Given the description of an element on the screen output the (x, y) to click on. 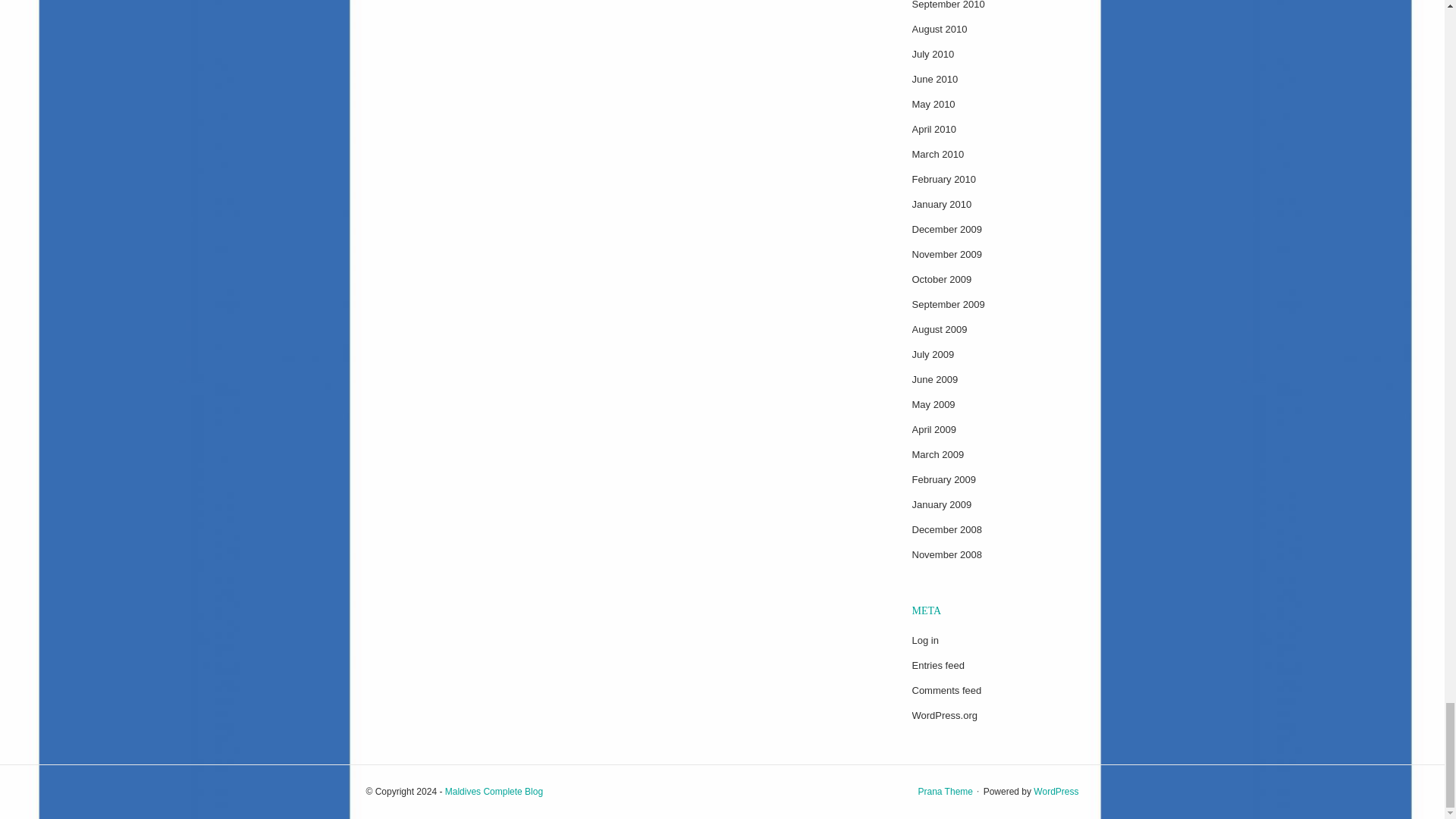
WordPress (1055, 791)
Prana Theme (944, 791)
